Given the description of an element on the screen output the (x, y) to click on. 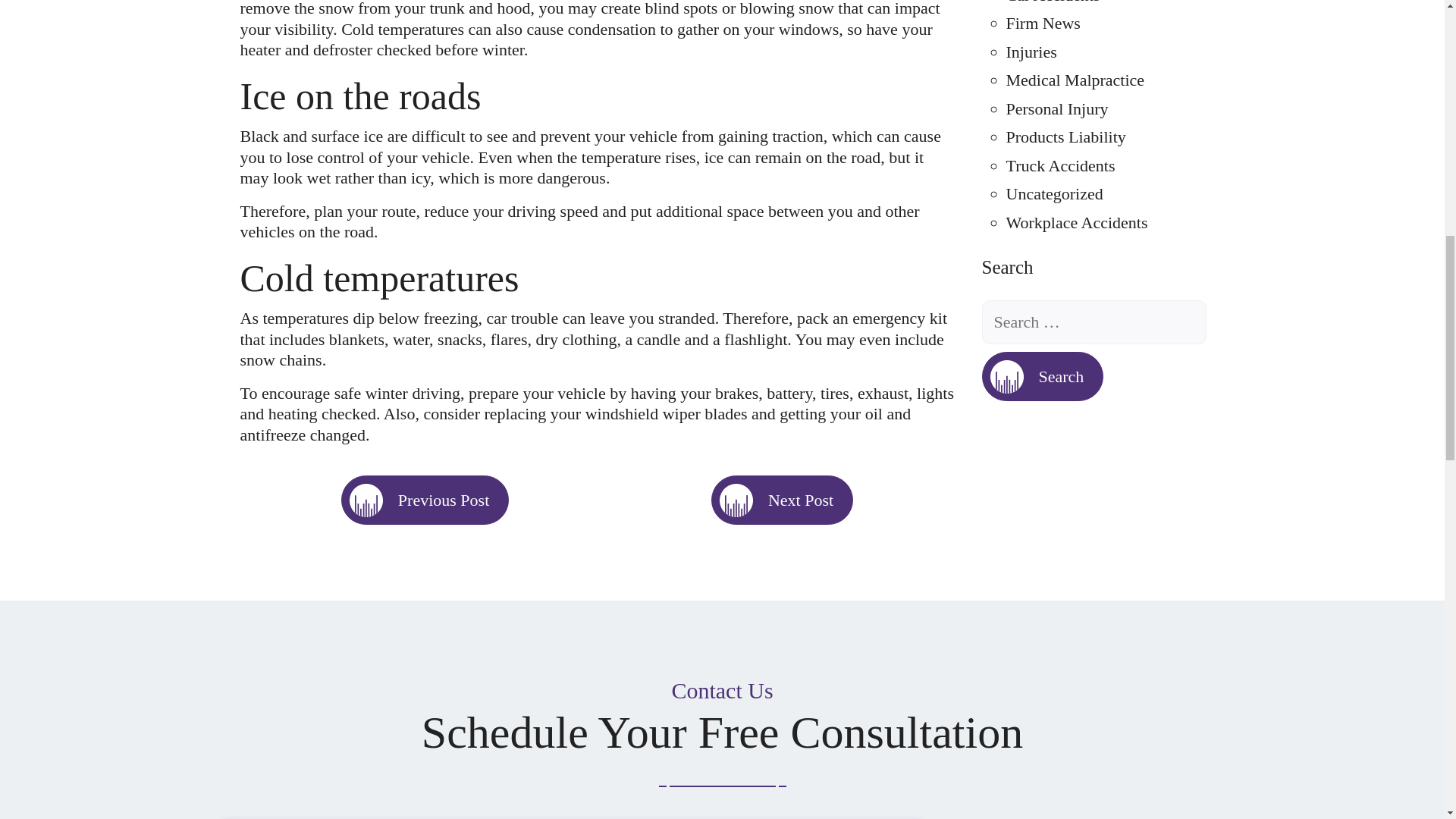
Search (1042, 376)
Uncategorized (1054, 193)
Previous Post (424, 499)
Search (1042, 376)
Next Post (782, 499)
Car Accidents (1052, 2)
Injuries (1031, 51)
Medical Malpractice (1075, 79)
Search (1042, 376)
Firm News (1043, 22)
Truck Accidents (1060, 165)
Products Liability (1065, 136)
Workplace Accidents (1076, 221)
Personal Injury (1057, 107)
